Given the description of an element on the screen output the (x, y) to click on. 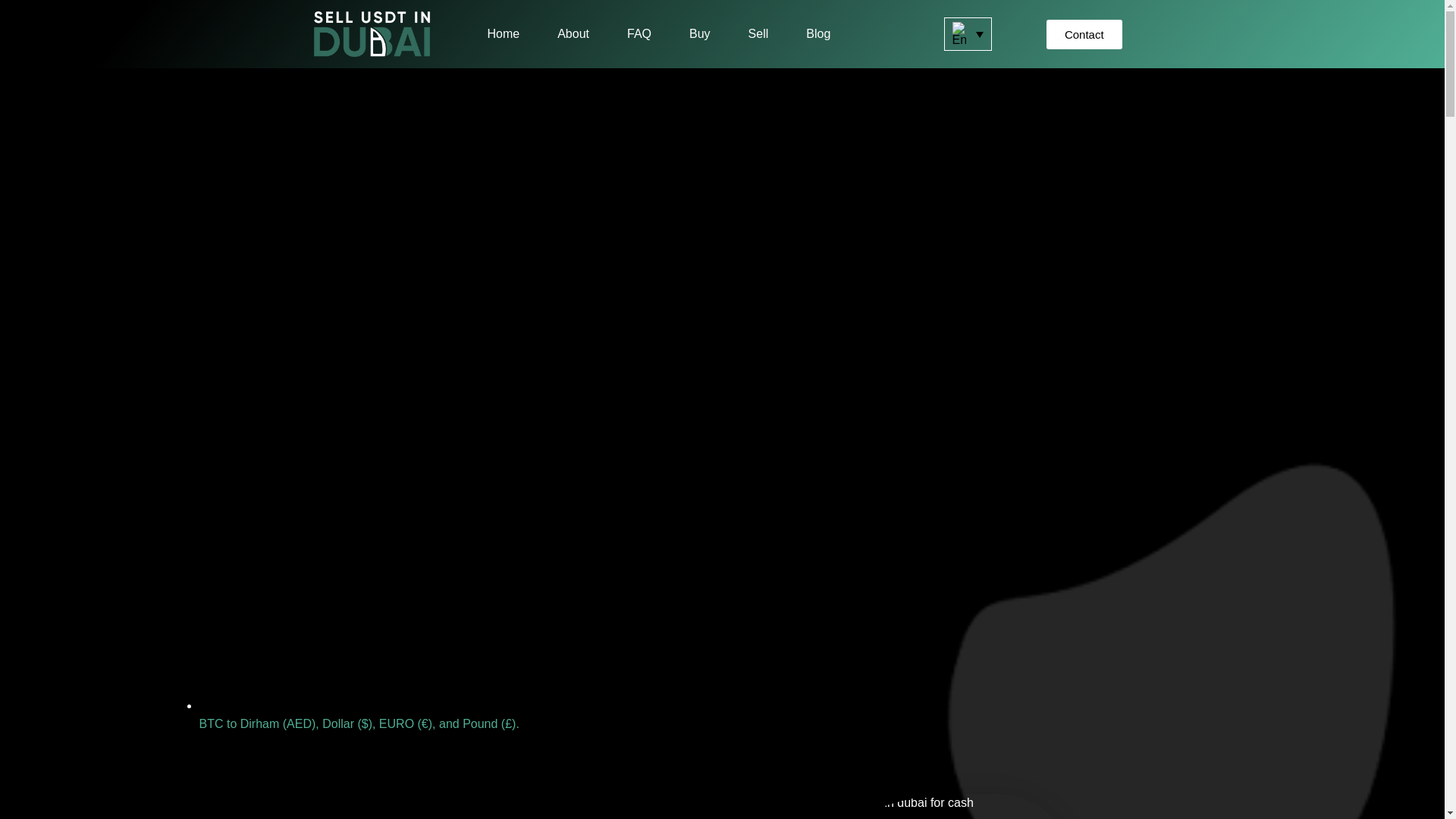
FAQ (638, 33)
Sell Btc In Dubai For Cash (900, 806)
Buy (699, 33)
Blog (817, 33)
Home (502, 33)
About (573, 33)
Sell (758, 33)
Contact (1084, 34)
